Given the description of an element on the screen output the (x, y) to click on. 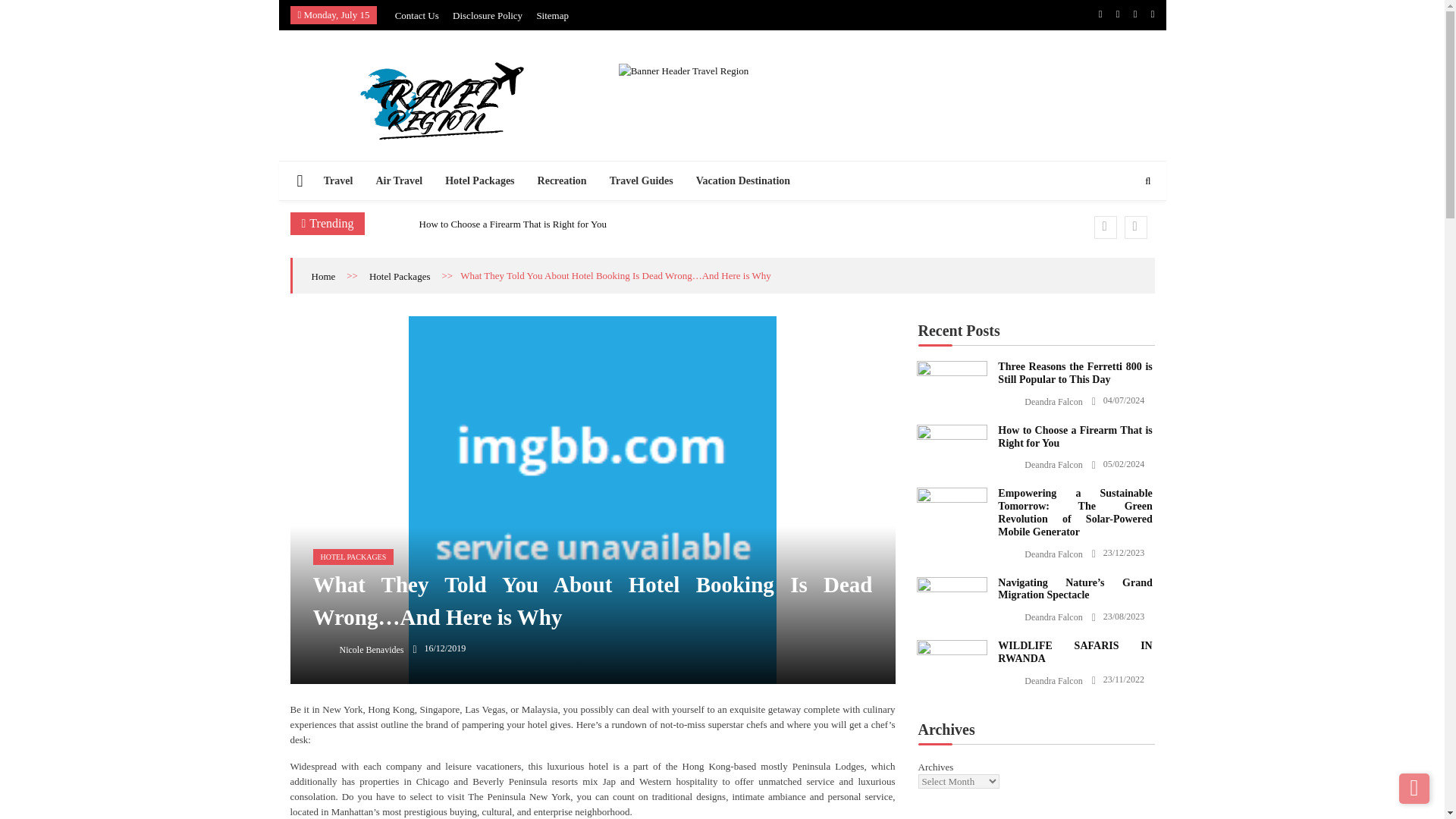
Travel (339, 180)
Air Travel (398, 180)
How to Choose a Firearm That is Right for You (951, 434)
Travel Region (339, 152)
WILDLIFE SAFARIS IN RWANDA (951, 649)
Travel Guides (641, 180)
Contact Us (416, 15)
How to Choose a Firearm That is Right for You (512, 224)
Disclosure Policy (487, 15)
Hotel Packages (479, 180)
Search (1122, 226)
Three Reasons the Ferretti 800 is Still Popular to This Day (951, 370)
Vacation Destination (743, 180)
Sitemap (552, 15)
